Given the description of an element on the screen output the (x, y) to click on. 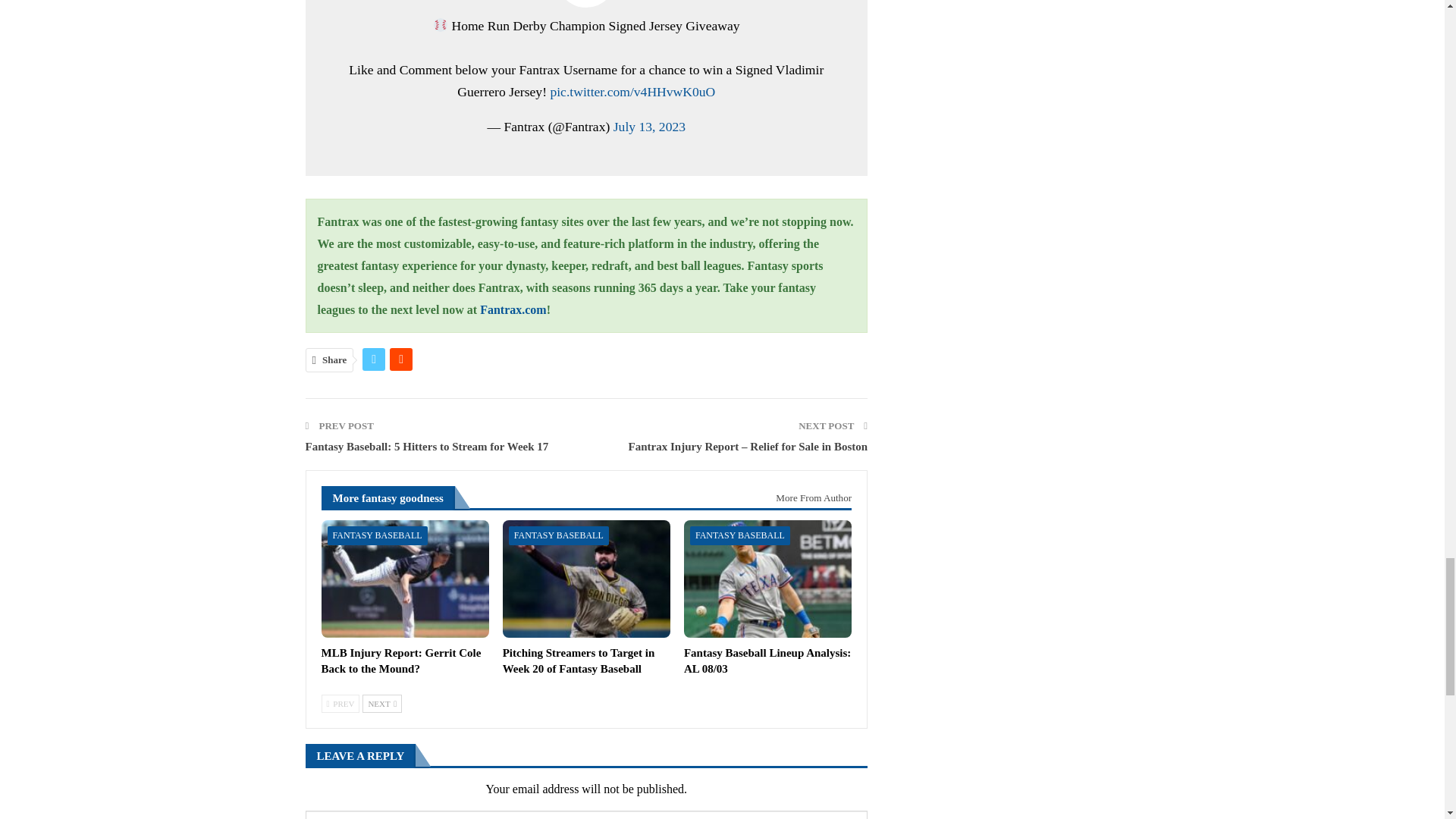
Pitching Streamers to Target in Week 20 of Fantasy Baseball (578, 660)
MLB Injury Report: Gerrit Cole Back to the Mound? (401, 660)
MLB Injury Report: Gerrit Cole Back to the Mound? (405, 579)
Pitching Streamers to Target in Week 20 of Fantasy Baseball (585, 579)
